Given the description of an element on the screen output the (x, y) to click on. 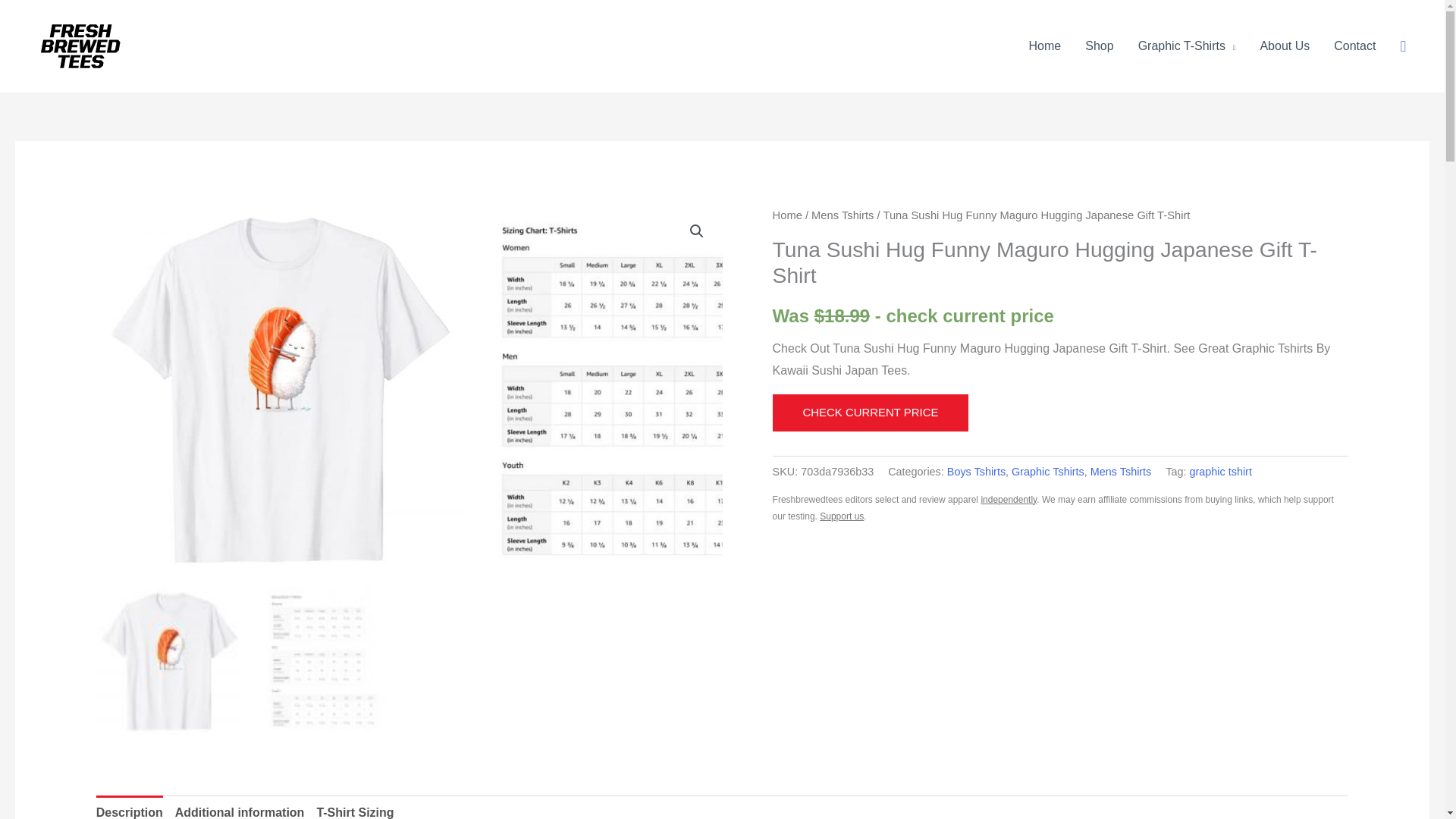
CHECK CURRENT PRICE (871, 412)
Graphic T-Shirts (1186, 46)
T-Shirt Sizing (354, 806)
Description (129, 806)
Additional information (239, 806)
independently (1007, 499)
Mens Tshirts (841, 215)
Mens Tshirts (1120, 471)
About Us (1284, 46)
Support us (841, 516)
Boys Tshirts (976, 471)
